Given the description of an element on the screen output the (x, y) to click on. 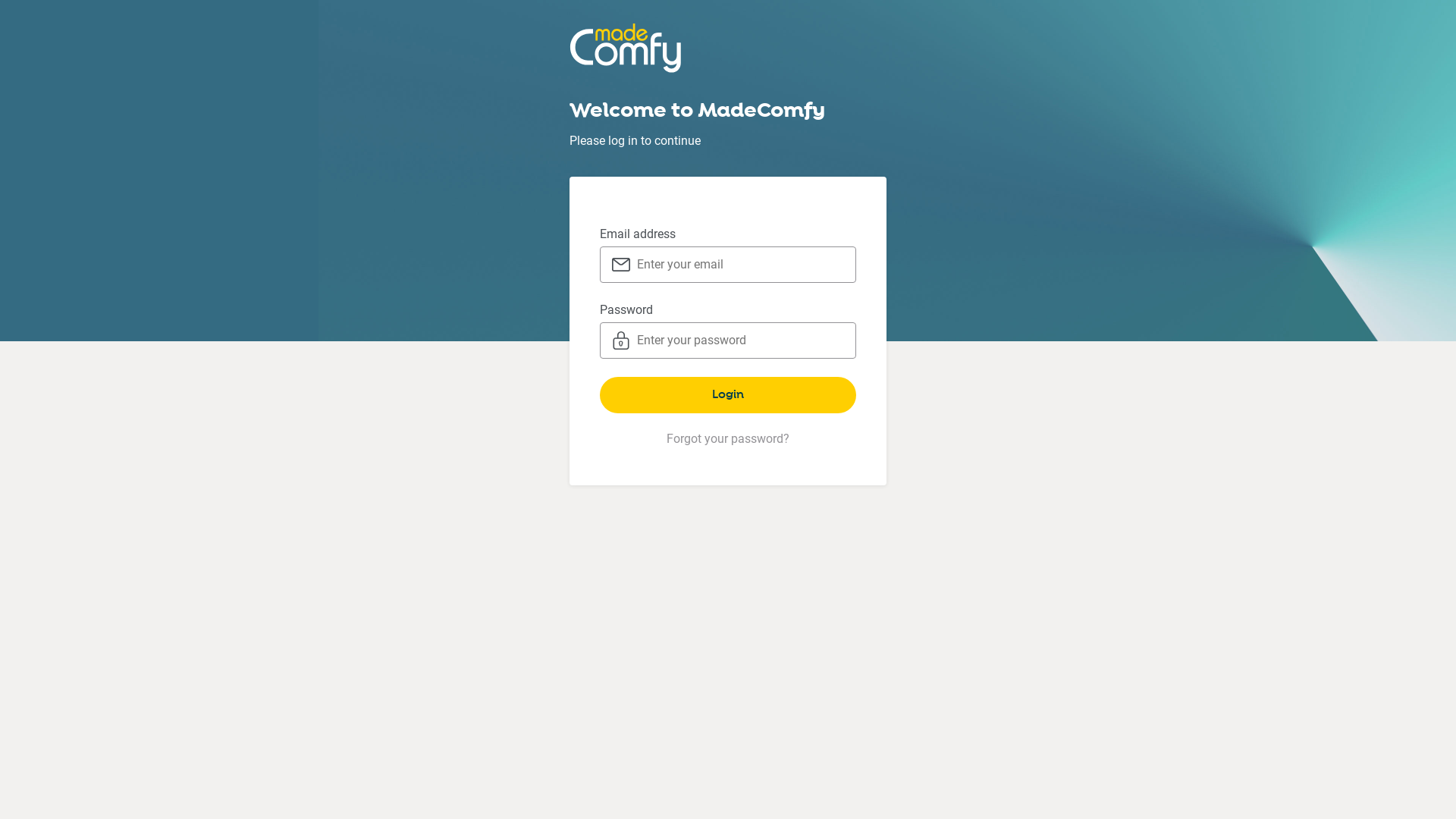
Forgot your password? Element type: text (727, 438)
Login Element type: text (727, 394)
